Given the description of an element on the screen output the (x, y) to click on. 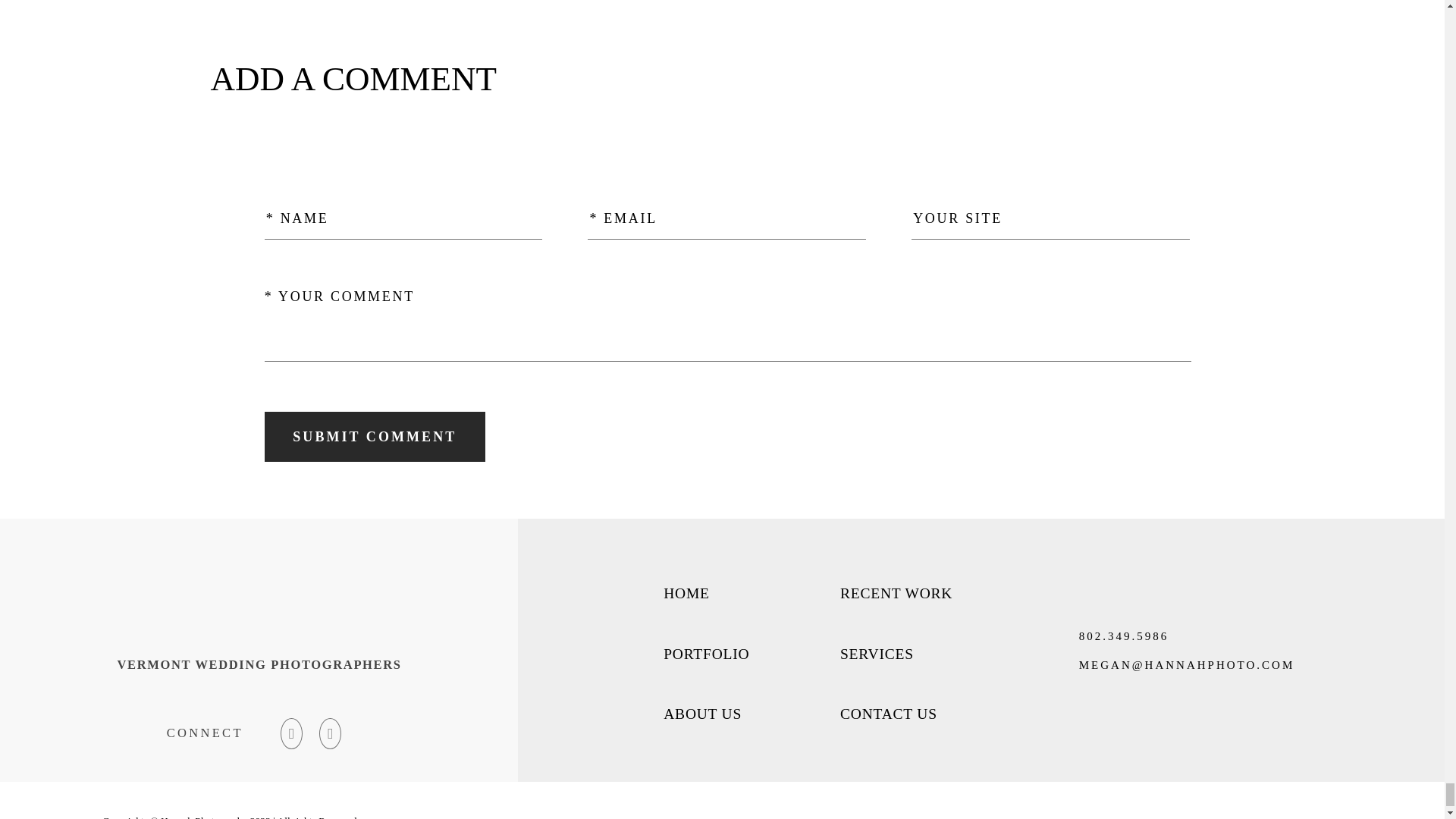
PORTFOLIO (706, 654)
Back to Top (1313, 816)
ABOUT US (702, 713)
Submit Comment (374, 436)
HOME (686, 593)
Submit Comment (374, 436)
